Given the description of an element on the screen output the (x, y) to click on. 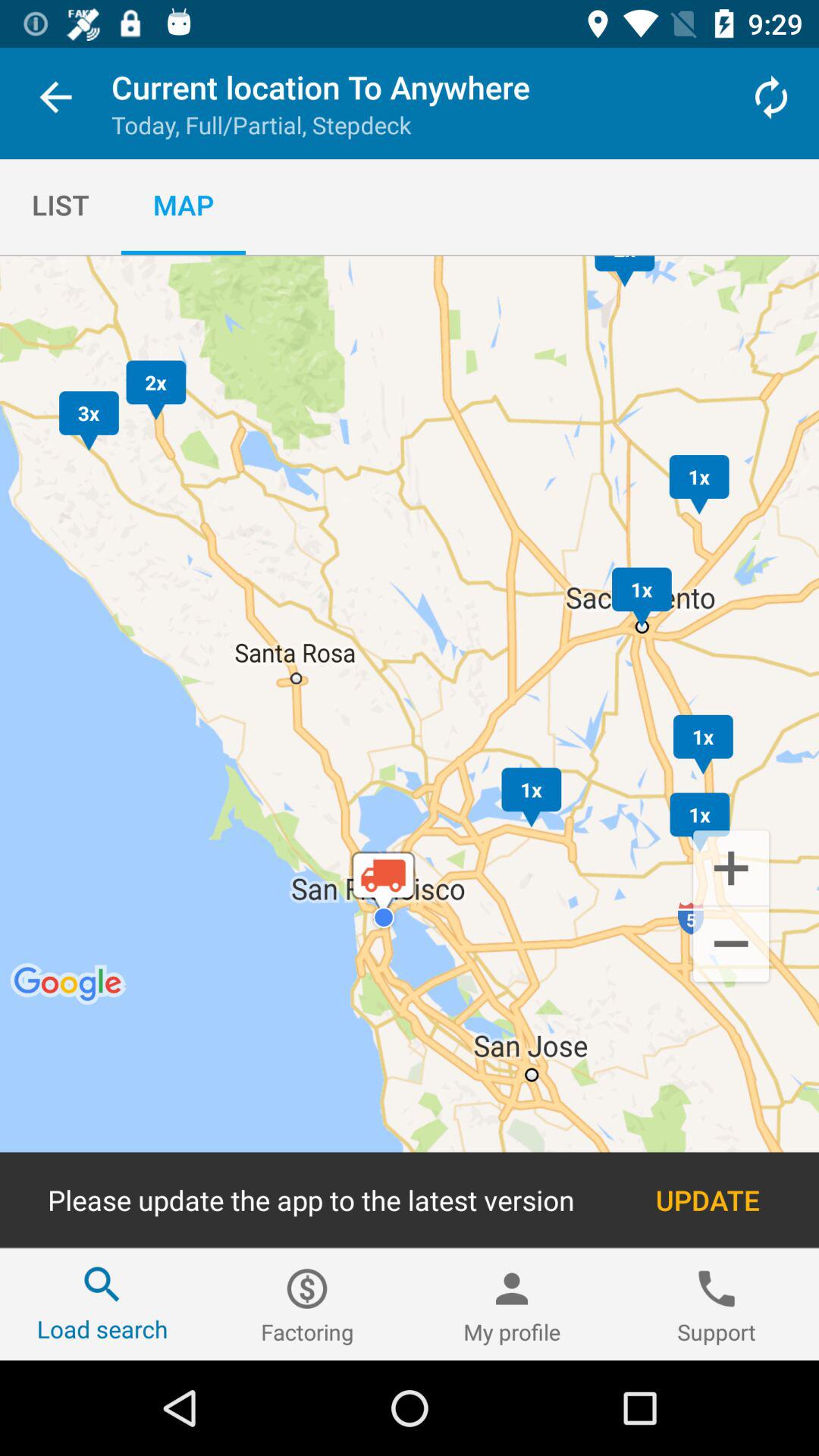
press icon to the left of support (511, 1304)
